Given the description of an element on the screen output the (x, y) to click on. 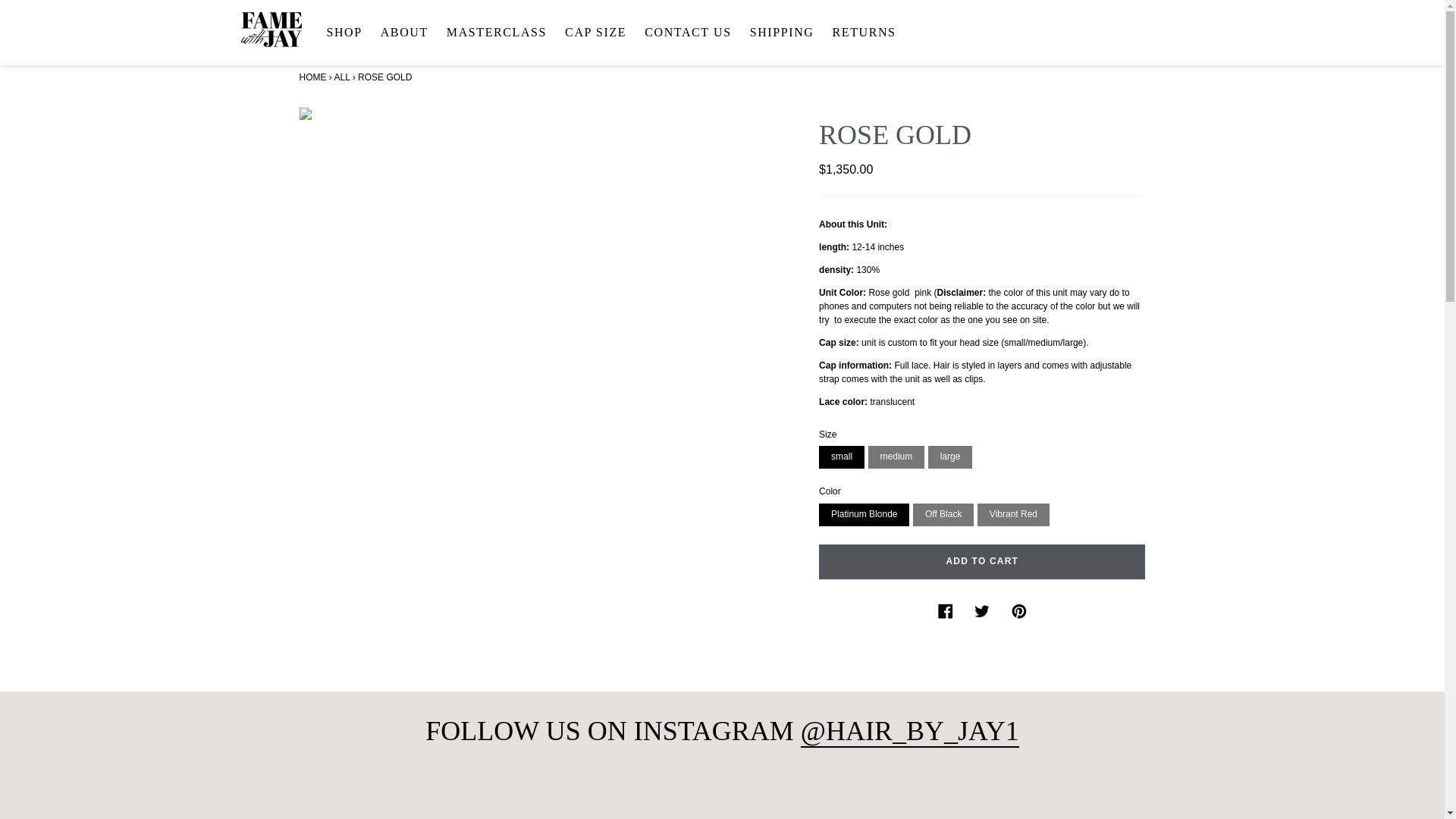
HOME (312, 77)
Share on Facebook (946, 609)
SHIPPING (788, 32)
ALL (342, 77)
Home (620, 32)
CONTACT US (312, 77)
RETURNS (693, 32)
ABOUT (869, 32)
Pin on Pinterest (410, 32)
